Given the description of an element on the screen output the (x, y) to click on. 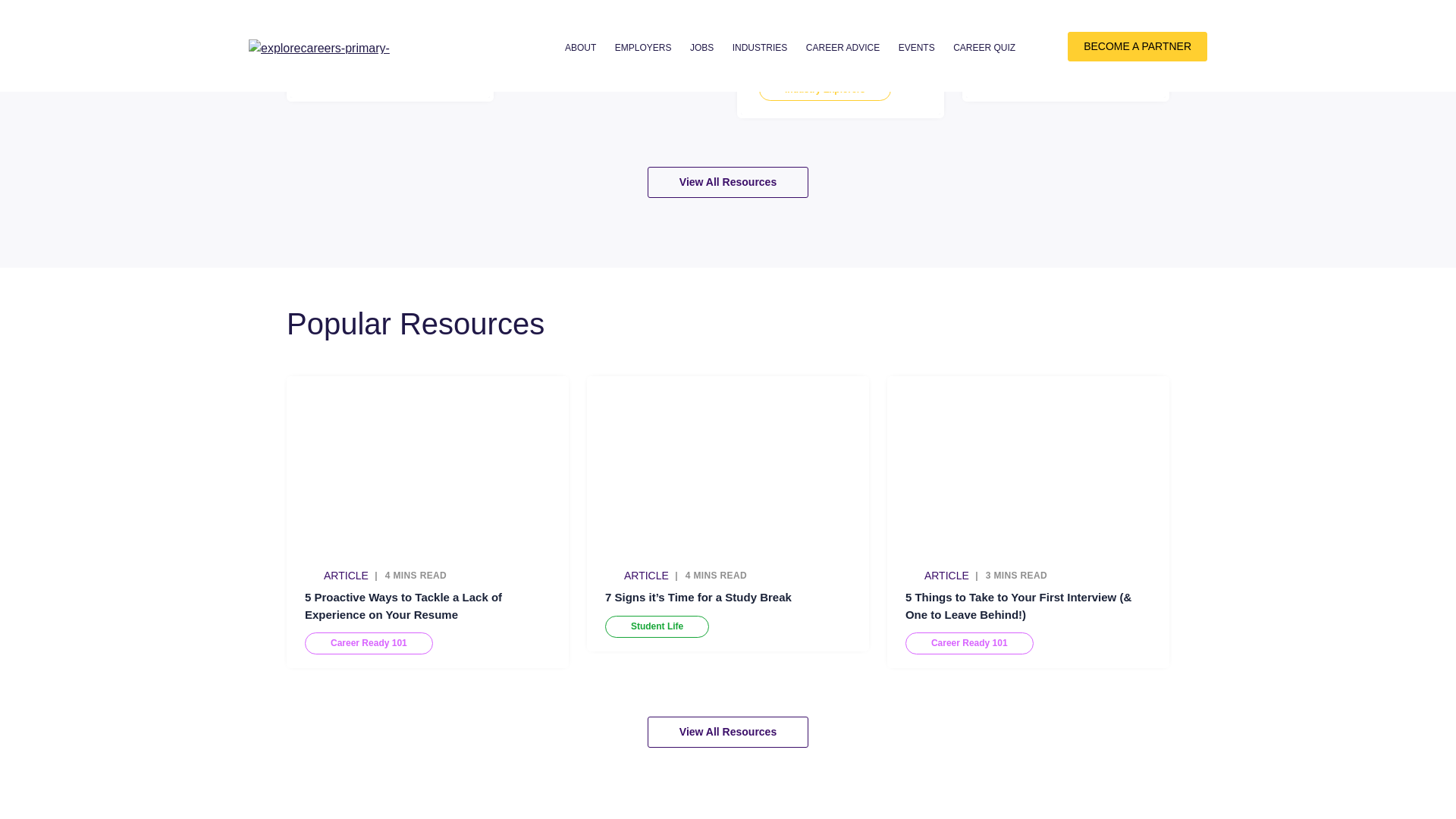
5 Pesky Tax Career Myths Dispelled For Good! (603, 40)
